Given the description of an element on the screen output the (x, y) to click on. 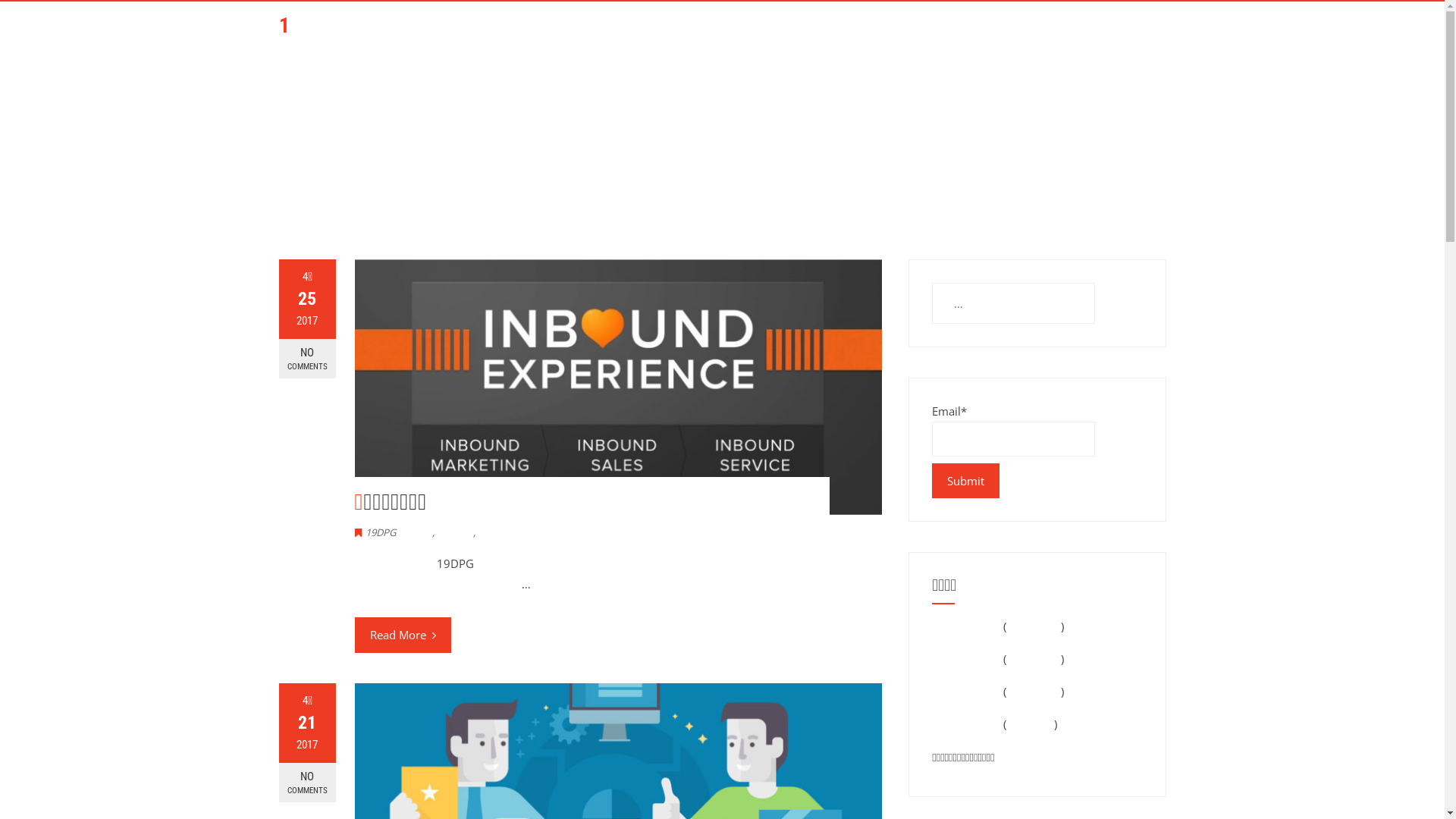
Submit Element type: text (965, 480)
Read More Element type: text (402, 634)
Home Element type: text (693, 158)
NO
COMMENTS Element type: text (307, 782)
2017 Element type: text (730, 158)
NO
COMMENTS Element type: text (307, 358)
19DPG Element type: text (309, 25)
